Given the description of an element on the screen output the (x, y) to click on. 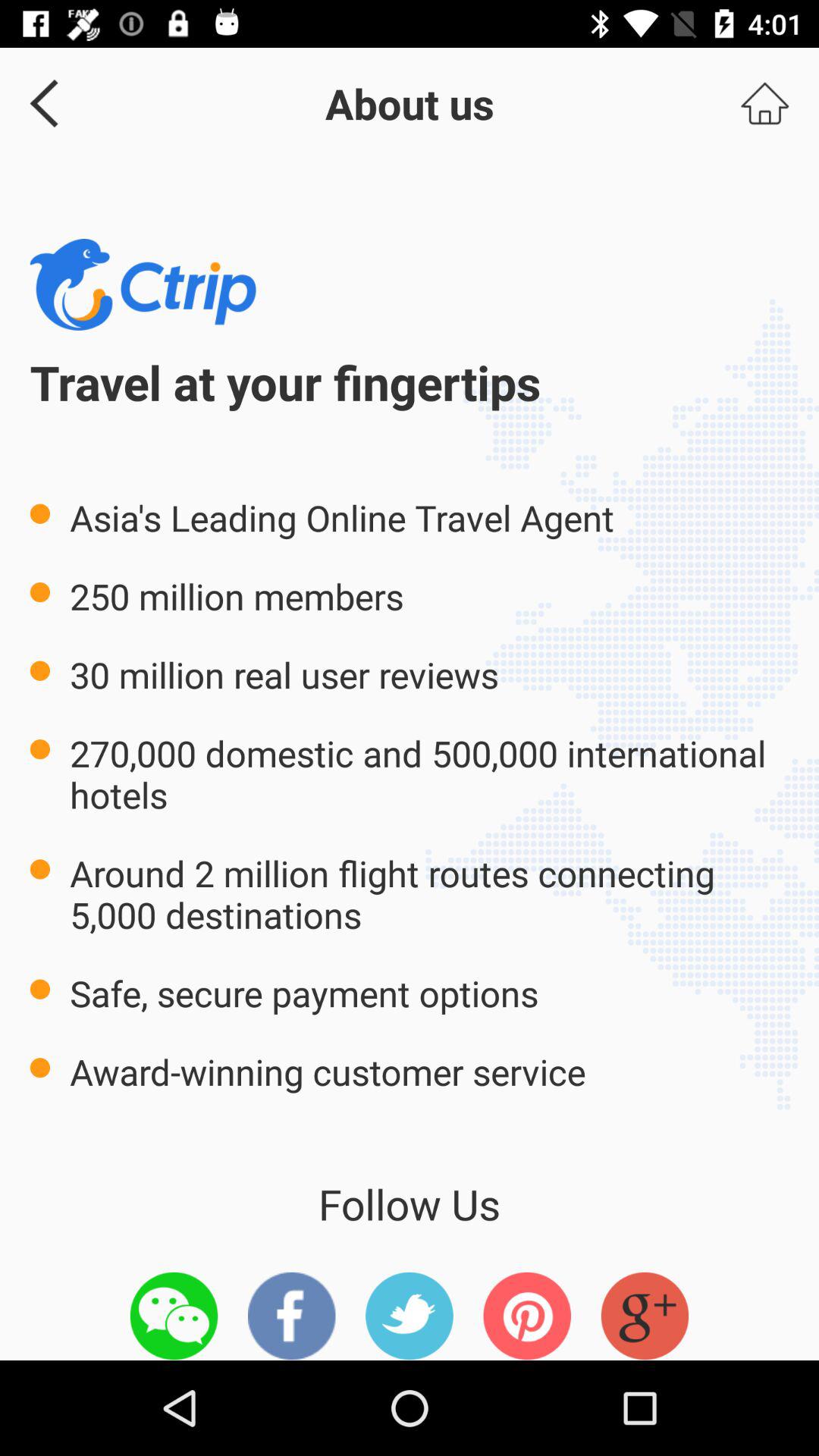
takes user to homepage (764, 103)
